Given the description of an element on the screen output the (x, y) to click on. 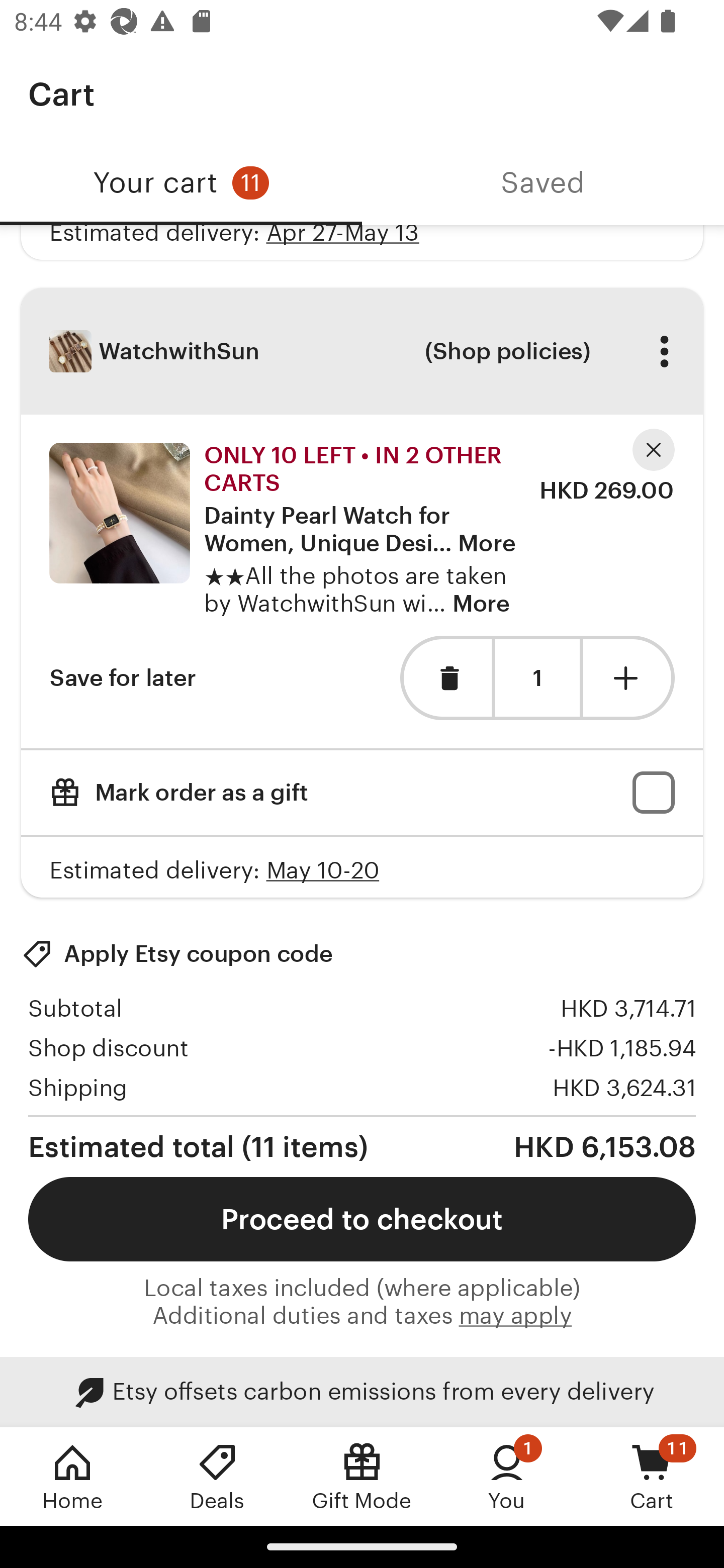
Saved, tab 2 of 2 Saved (543, 183)
WatchwithSun (Shop policies) More options (361, 350)
(Shop policies) (507, 350)
More options (663, 350)
Save for later (122, 677)
Remove item from cart (445, 677)
Add one unit to cart (628, 677)
1 (537, 678)
Mark order as a gift (361, 792)
Apply Etsy coupon code (177, 953)
Proceed to checkout (361, 1218)
Home (72, 1475)
Deals (216, 1475)
Gift Mode (361, 1475)
You, 1 new notification You (506, 1475)
